Given the description of an element on the screen output the (x, y) to click on. 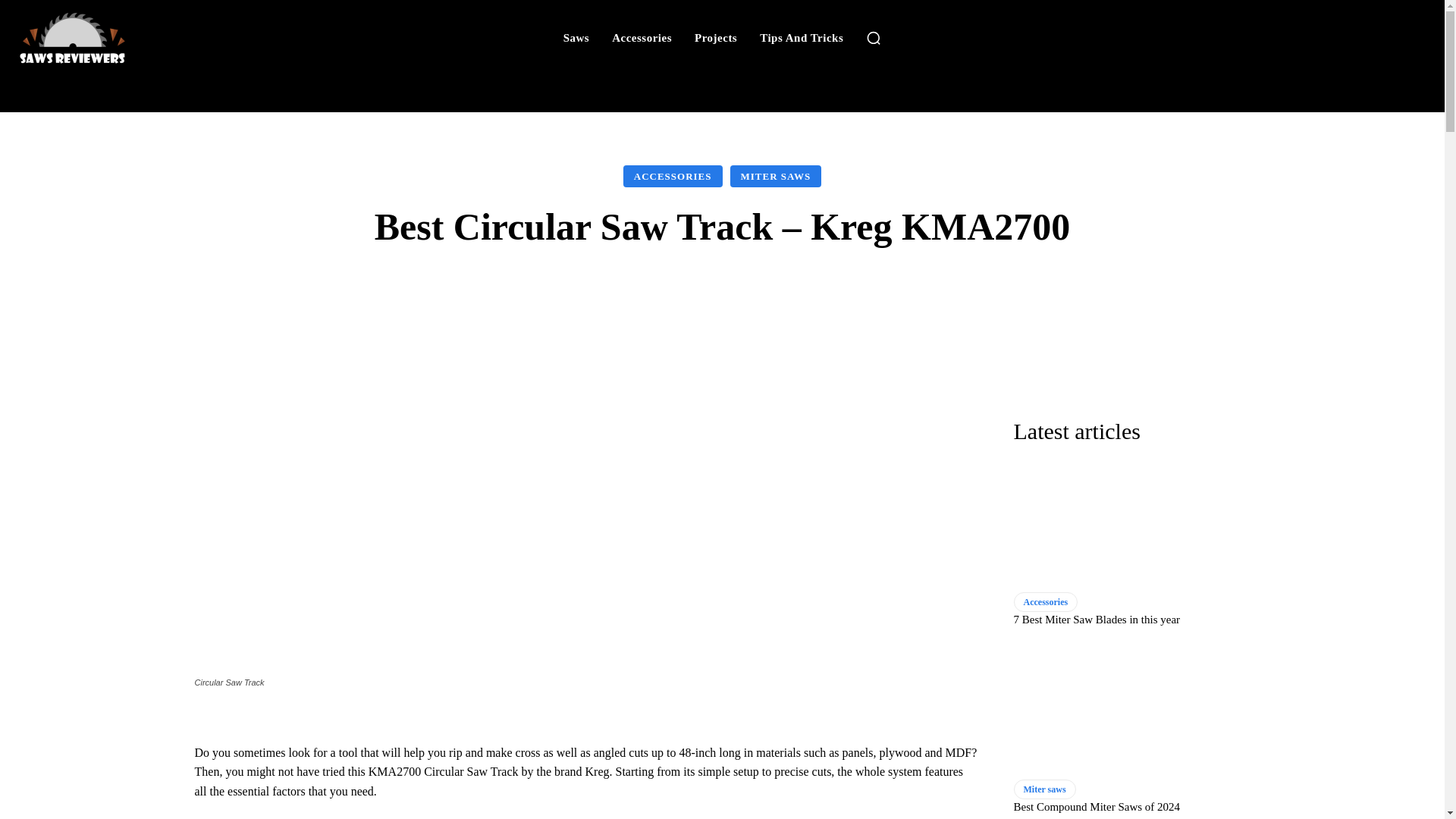
Tips And Tricks (801, 38)
Accessories (641, 38)
Projects (715, 38)
Saws (576, 38)
